Given the description of an element on the screen output the (x, y) to click on. 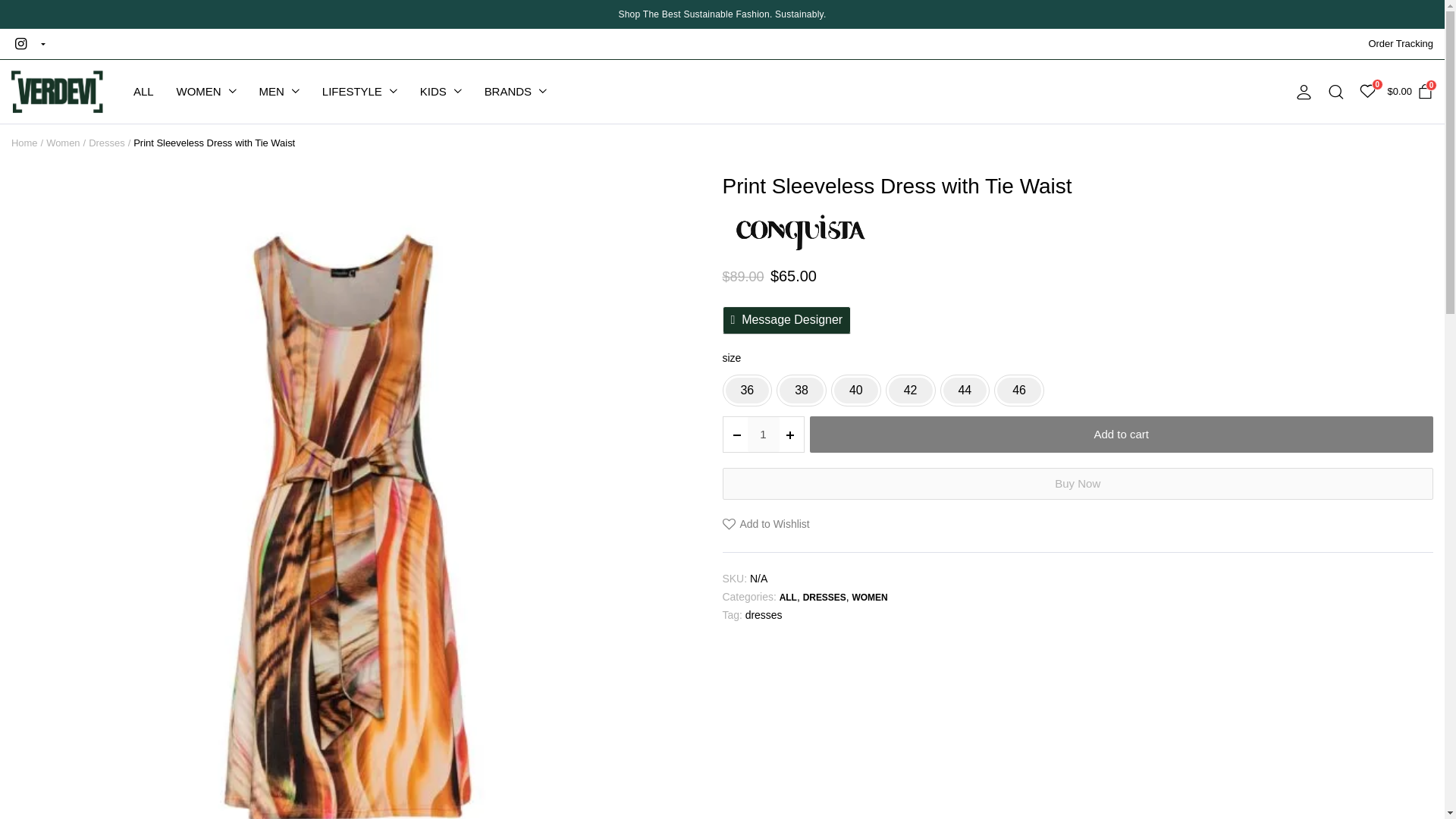
Verdevi (57, 91)
44 (965, 390)
Order Tracking (1400, 43)
LIFESTYLE (359, 91)
WOMEN (205, 91)
1 (763, 434)
46 (1018, 390)
36 (746, 390)
42 (910, 390)
40 (855, 390)
38 (801, 390)
